Given the description of an element on the screen output the (x, y) to click on. 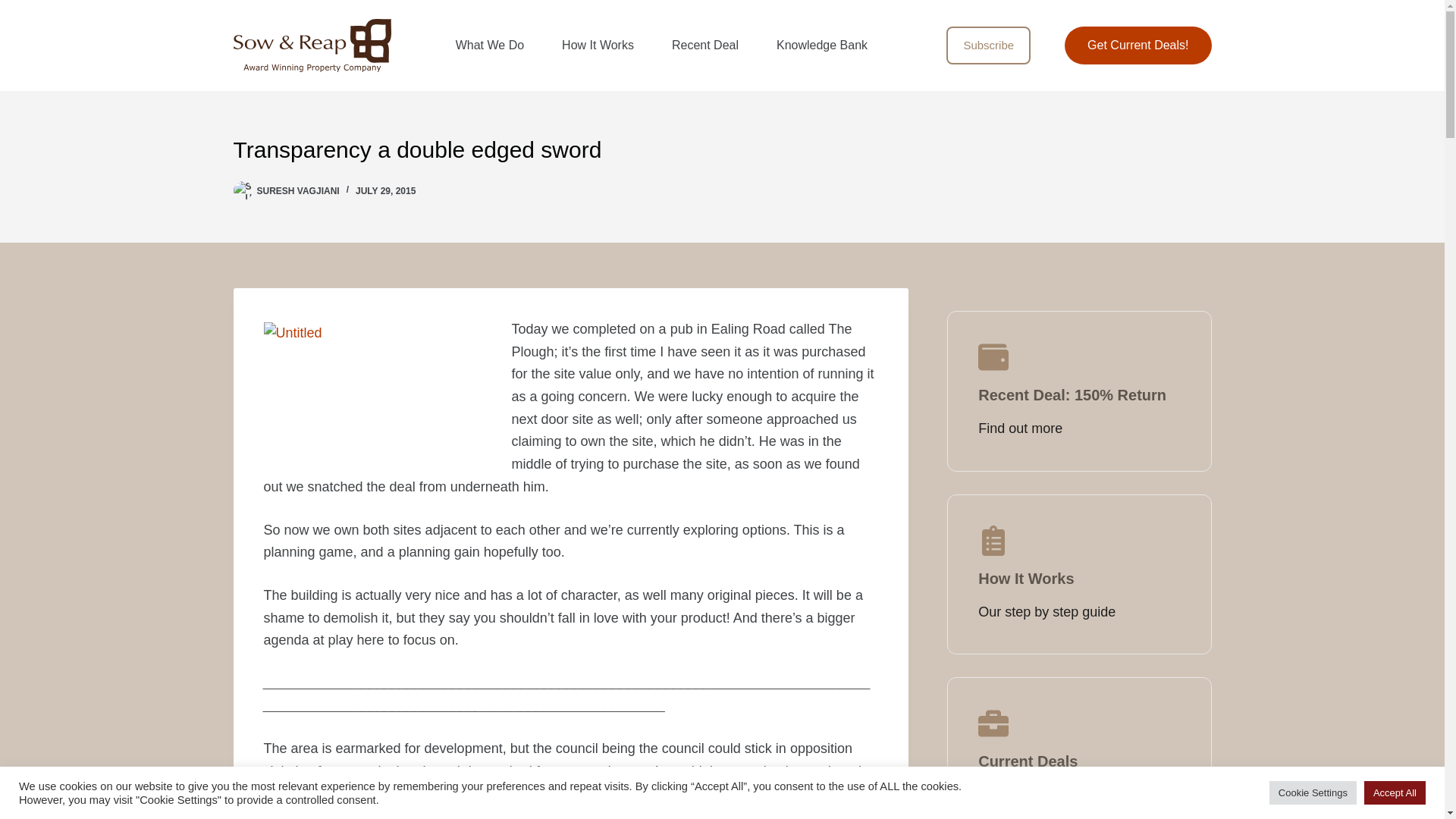
Skip to content (15, 7)
What We Do (489, 45)
Knowledge Bank (821, 45)
Posts by Suresh Vagjiani (297, 190)
Recent Deal (704, 45)
SURESH VAGJIANI (297, 190)
Transparency a double edged sword (721, 149)
Subscribe (988, 45)
How It Works (597, 45)
Get Current Deals! (1137, 45)
